Given the description of an element on the screen output the (x, y) to click on. 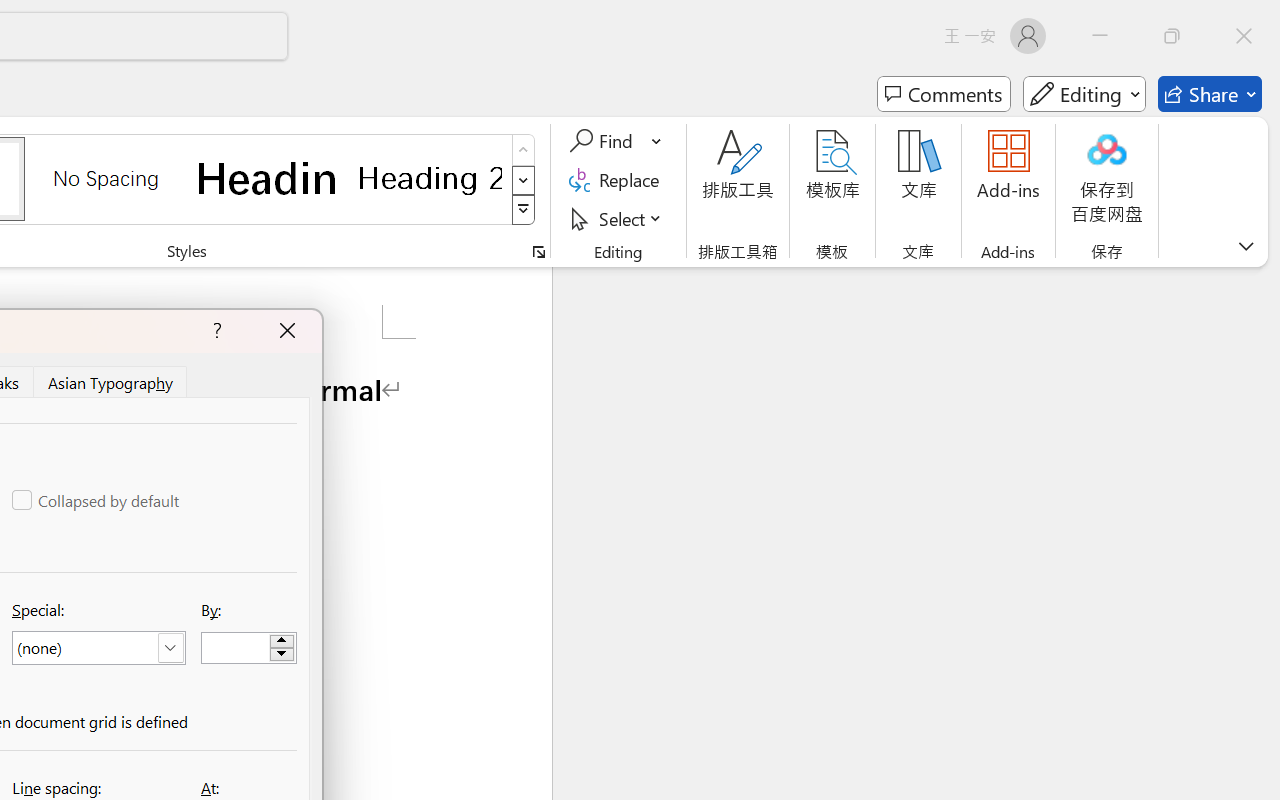
Styles... (538, 252)
Collapsed by default (97, 500)
Special: (98, 647)
Row Down (523, 180)
Row up (523, 150)
Replace... (617, 179)
Asian Typography (111, 381)
Mode (1083, 94)
Heading 1 (267, 178)
